Given the description of an element on the screen output the (x, y) to click on. 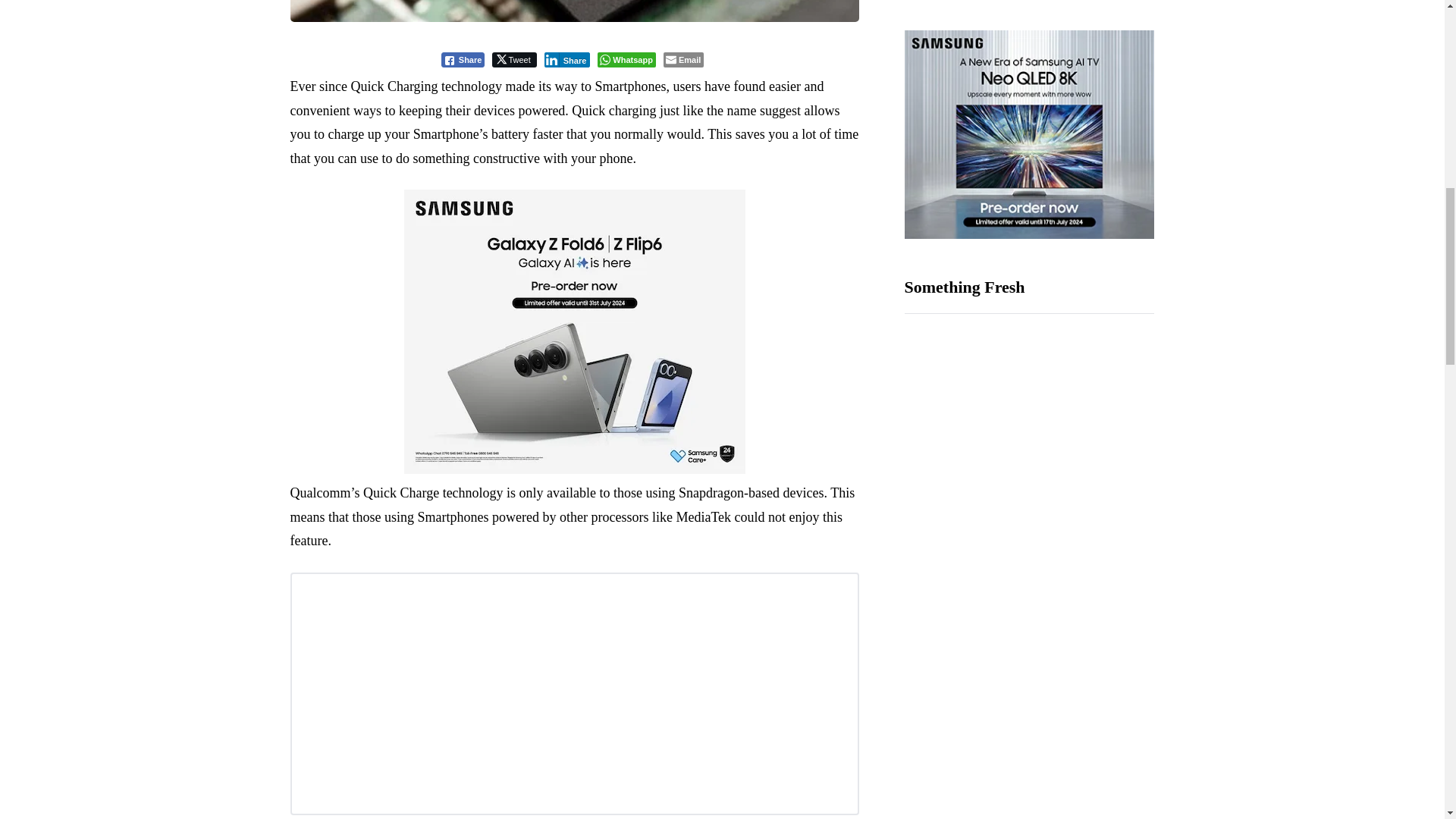
Share (567, 59)
Tweet (513, 59)
Share (462, 59)
Whatsapp (626, 59)
Email (683, 59)
